Given the description of an element on the screen output the (x, y) to click on. 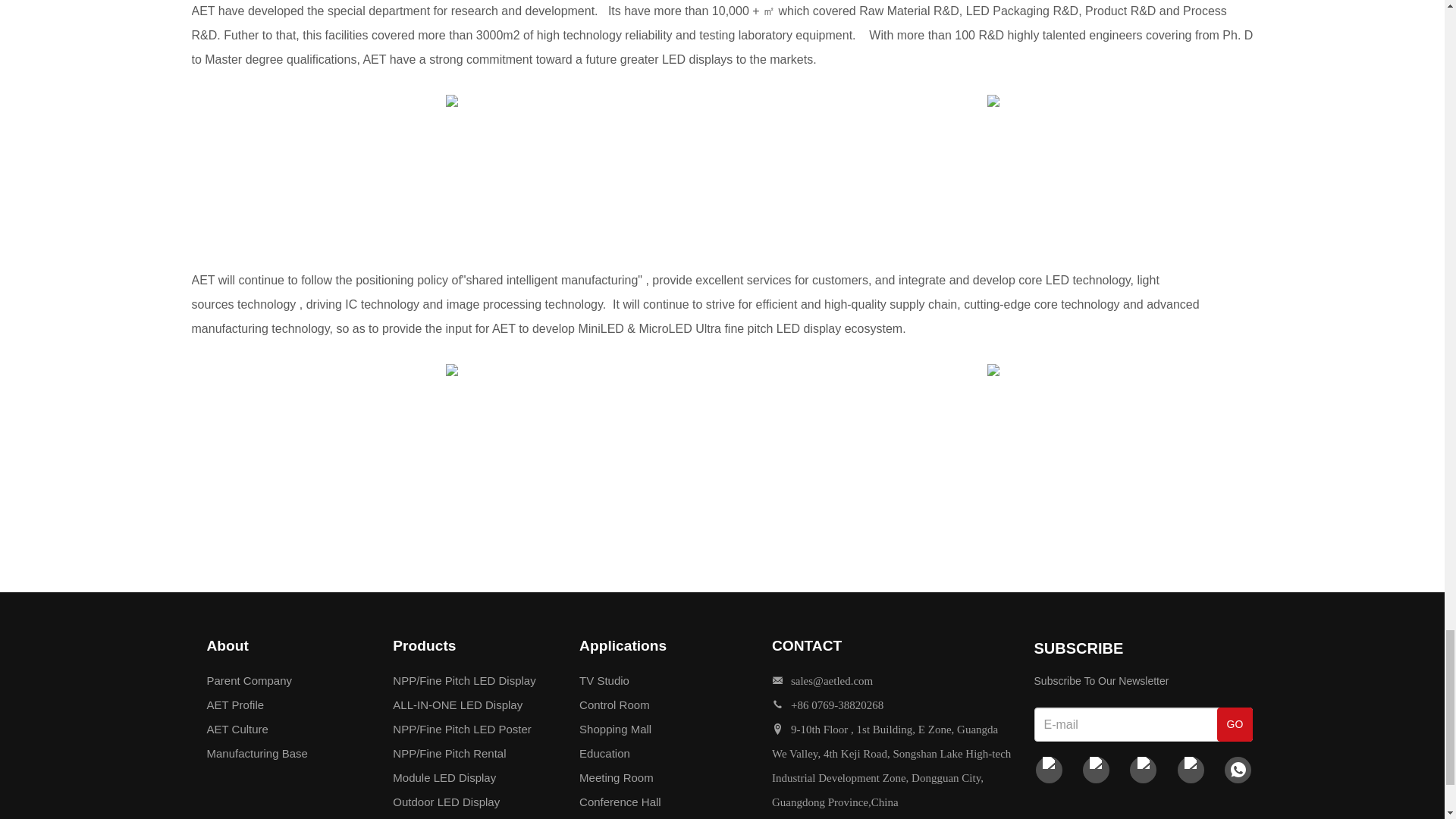
pic (992, 369)
pic (992, 101)
pic (451, 369)
pic (451, 101)
